Given the description of an element on the screen output the (x, y) to click on. 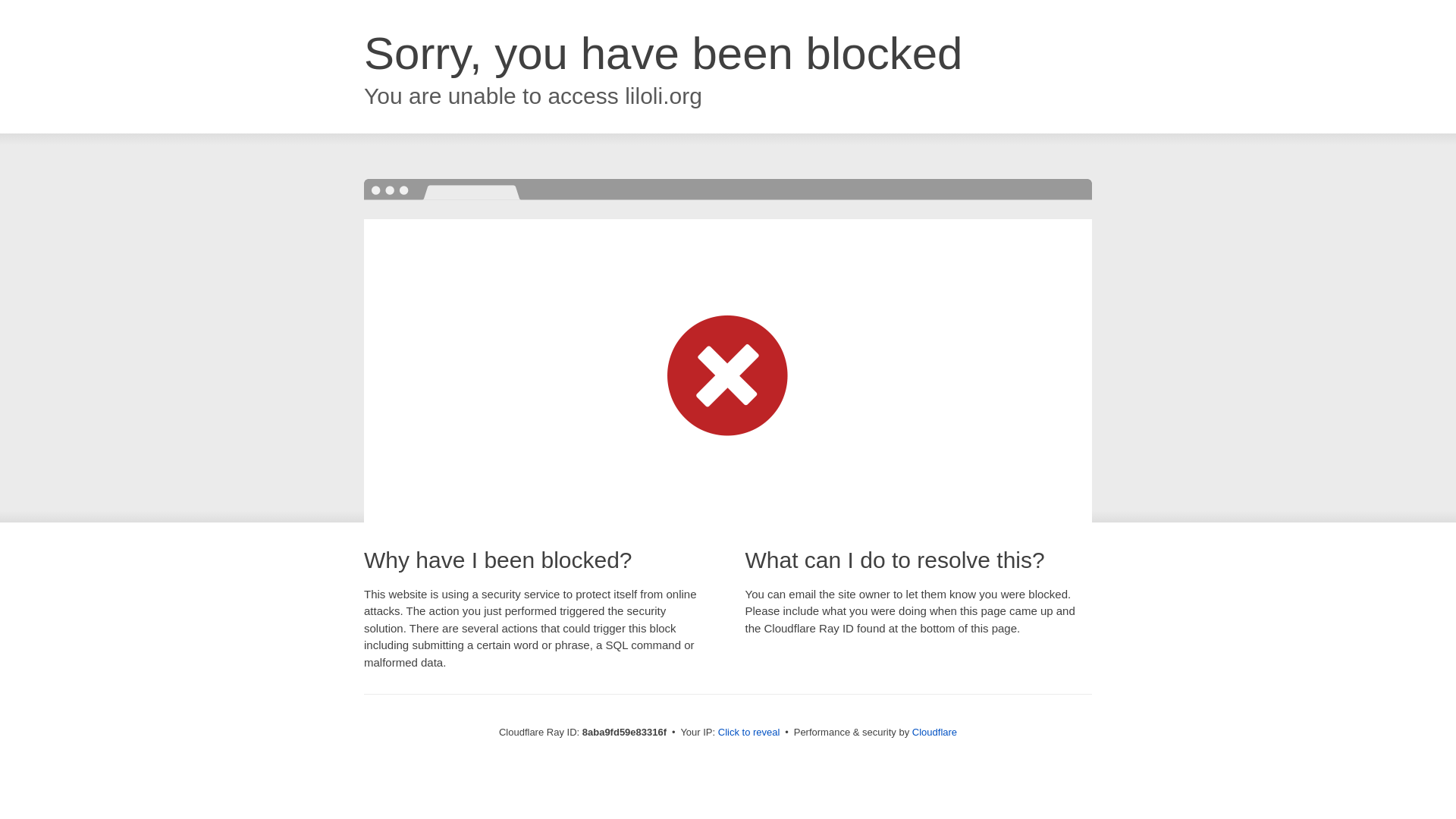
Click to reveal (748, 732)
Cloudflare (934, 731)
